Given the description of an element on the screen output the (x, y) to click on. 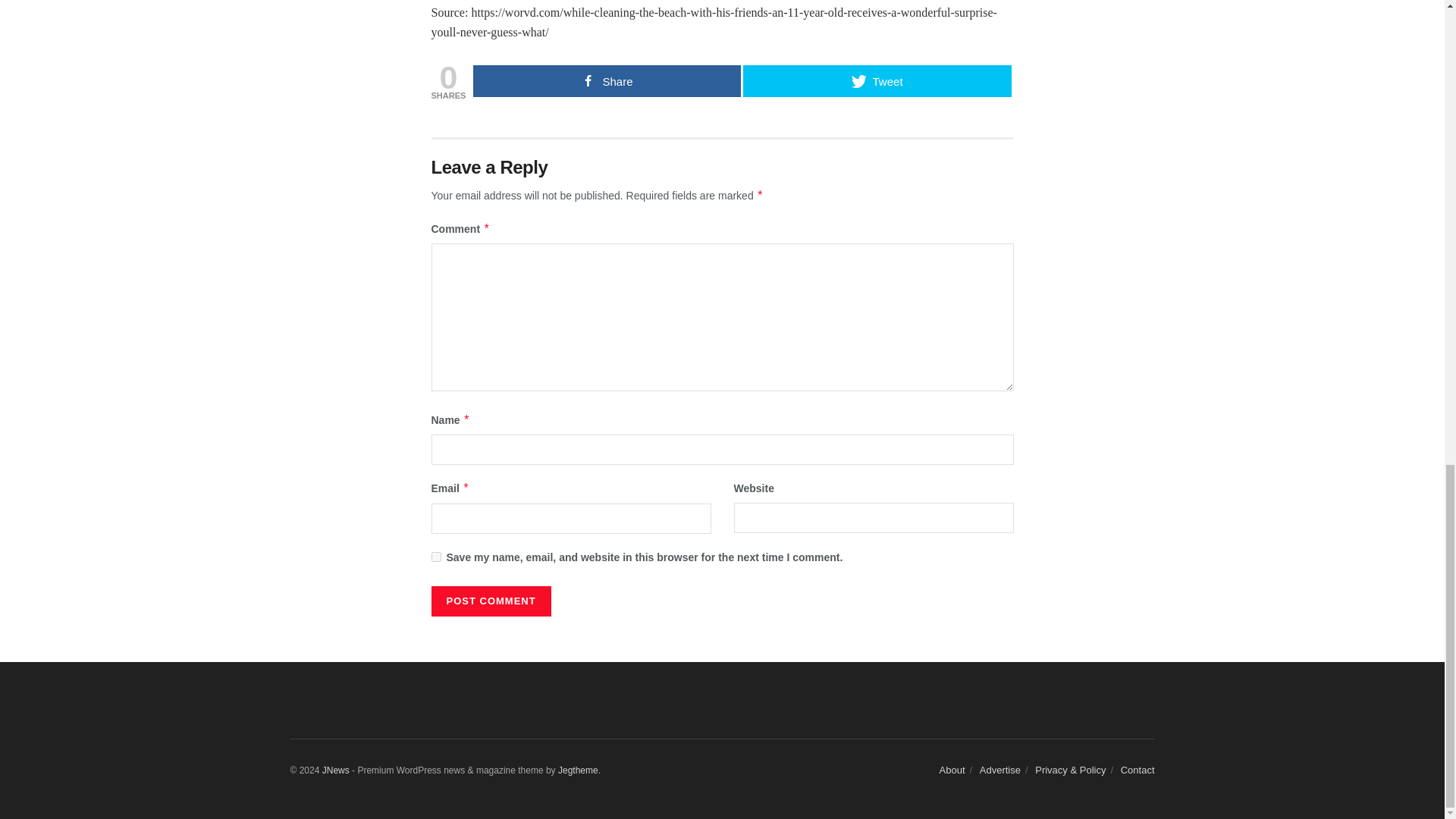
Post Comment (490, 601)
JNews (335, 769)
Jegtheme (577, 769)
Share (607, 81)
Contact (1137, 769)
yes (435, 556)
Post Comment (490, 601)
Jegtheme (577, 769)
About (952, 769)
Advertise (999, 769)
